Given the description of an element on the screen output the (x, y) to click on. 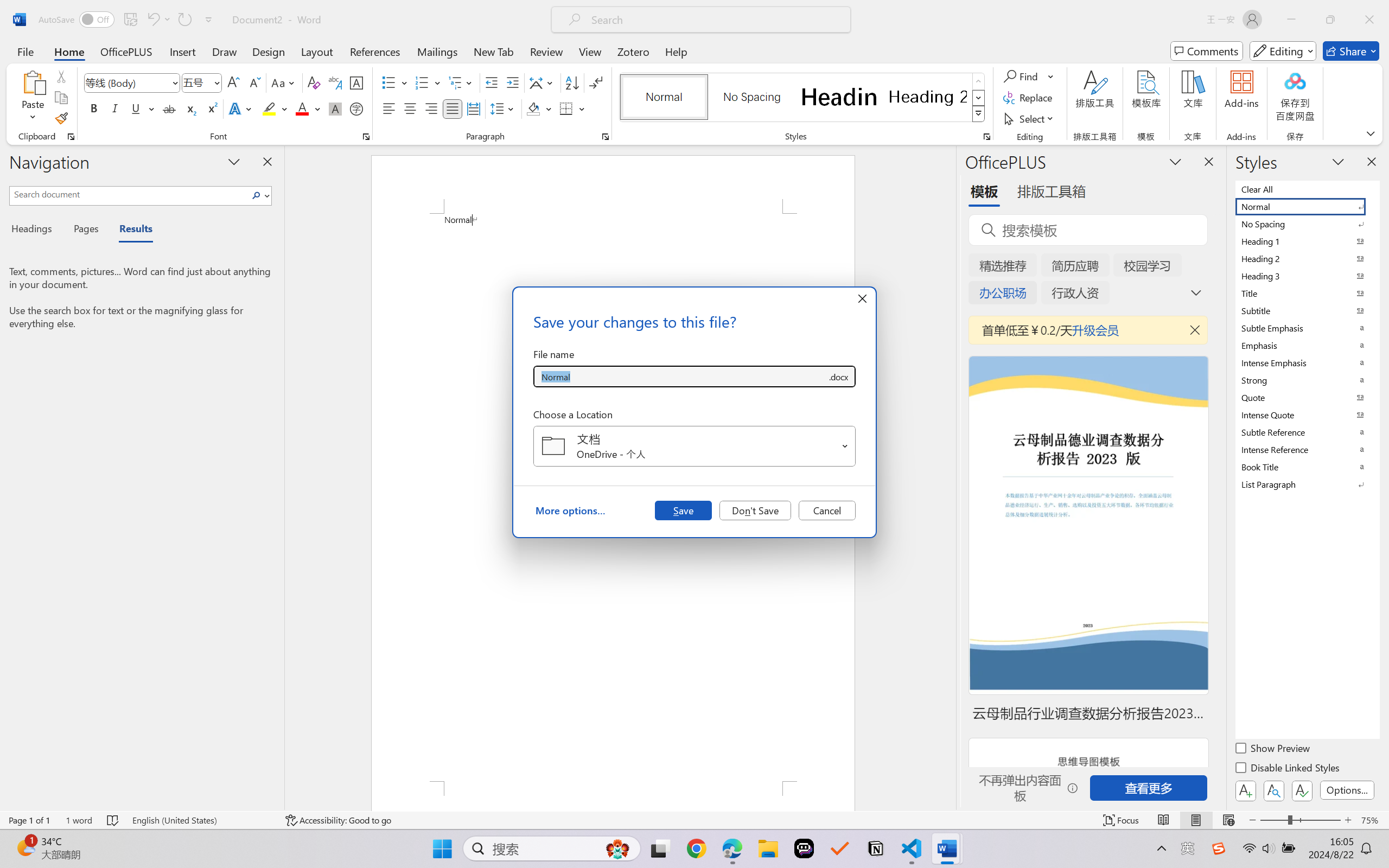
References (375, 51)
Cut (60, 75)
Justify (452, 108)
Paragraph... (605, 136)
Font Size (201, 82)
Task Pane Options (1175, 161)
Find (1029, 75)
Search (256, 195)
Quote (1306, 397)
Headings (35, 229)
Class: Image (1218, 847)
Close (1369, 19)
Font (126, 82)
Center (409, 108)
